Given the description of an element on the screen output the (x, y) to click on. 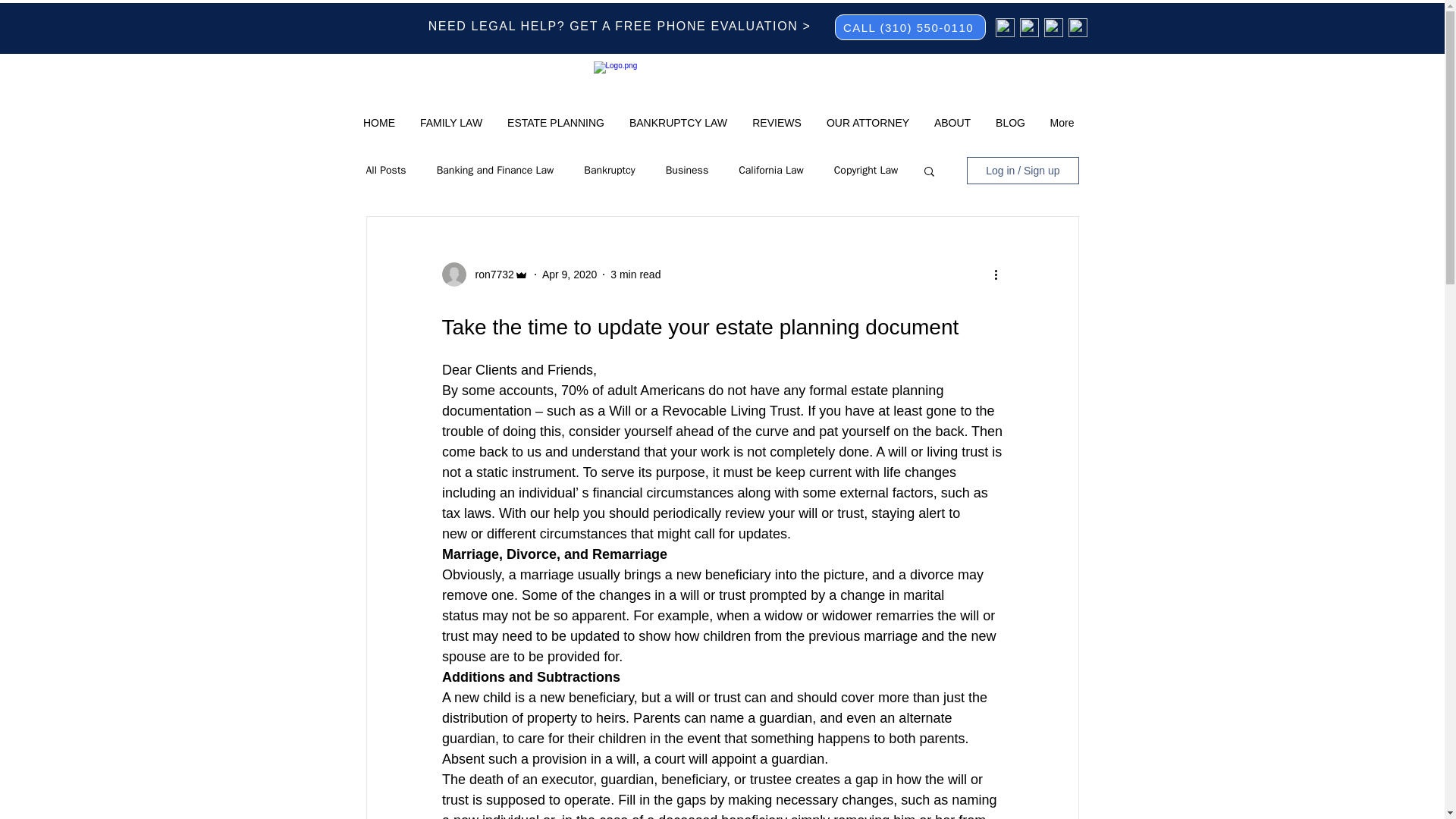
BANKRUPTCY LAW (678, 122)
Business (686, 170)
Bankruptcy (608, 170)
BLOG (1009, 122)
OUR ATTORNEY (867, 122)
All Posts (385, 170)
Apr 9, 2020 (568, 274)
REVIEWS (776, 122)
3 min read (635, 274)
HOME (378, 122)
Copyright Law (866, 170)
FAMILY LAW (451, 122)
ESTATE PLANNING (555, 122)
Banking and Finance Law (495, 170)
ABOUT (952, 122)
